Given the description of an element on the screen output the (x, y) to click on. 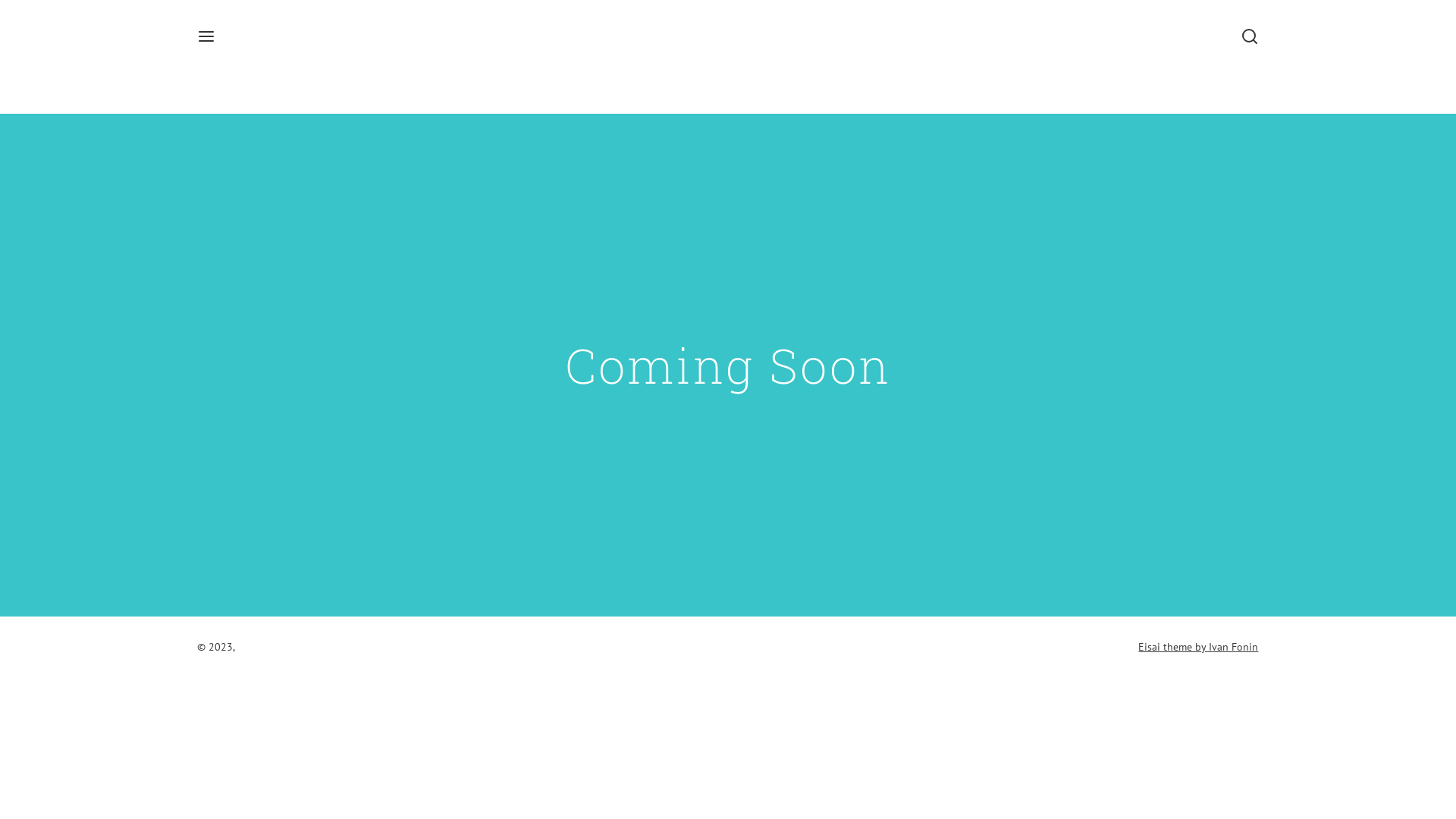
Eisai theme by Ivan Fonin Element type: text (1198, 647)
